Given the description of an element on the screen output the (x, y) to click on. 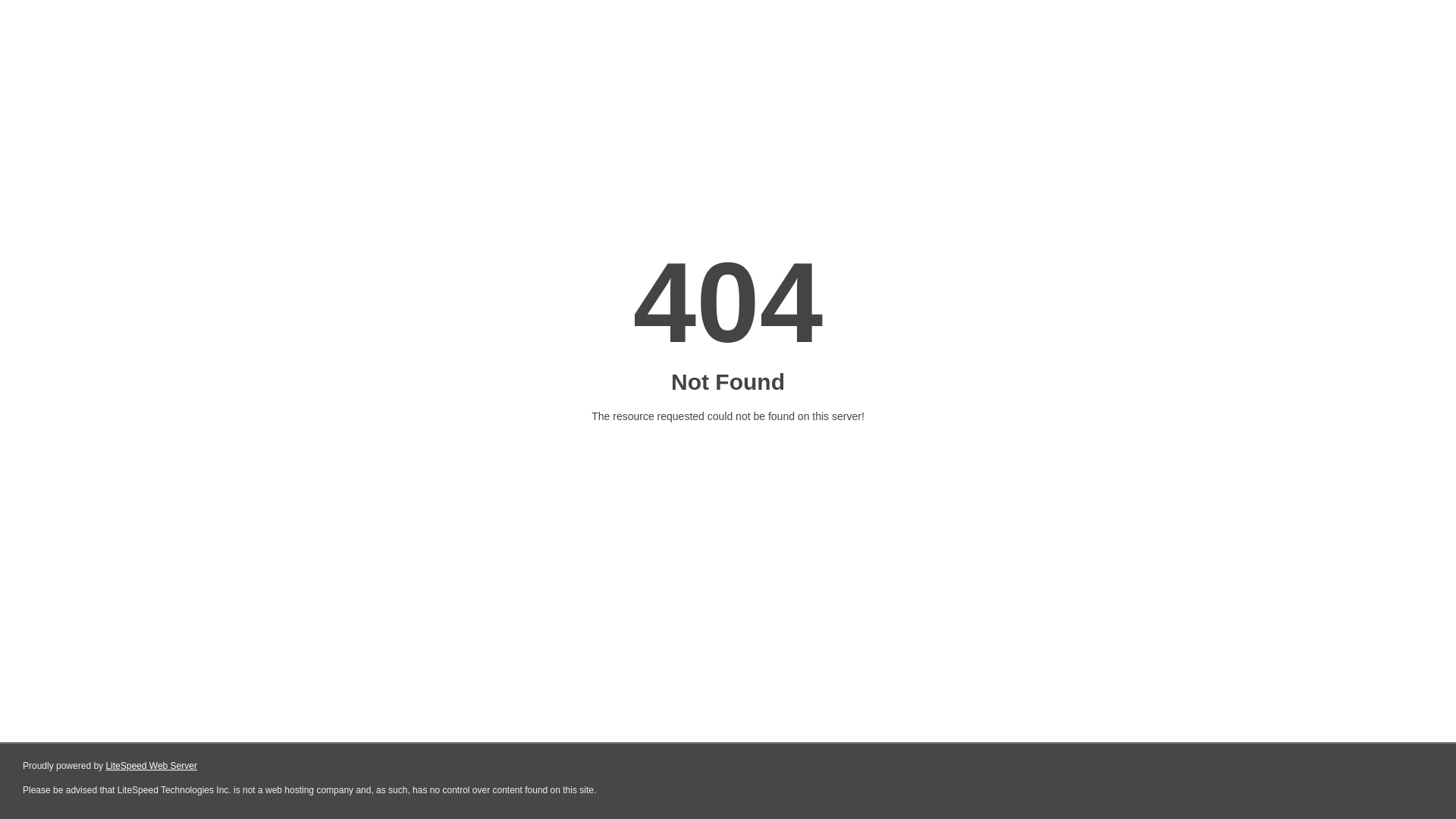
LiteSpeed Web Server Element type: text (151, 765)
